Given the description of an element on the screen output the (x, y) to click on. 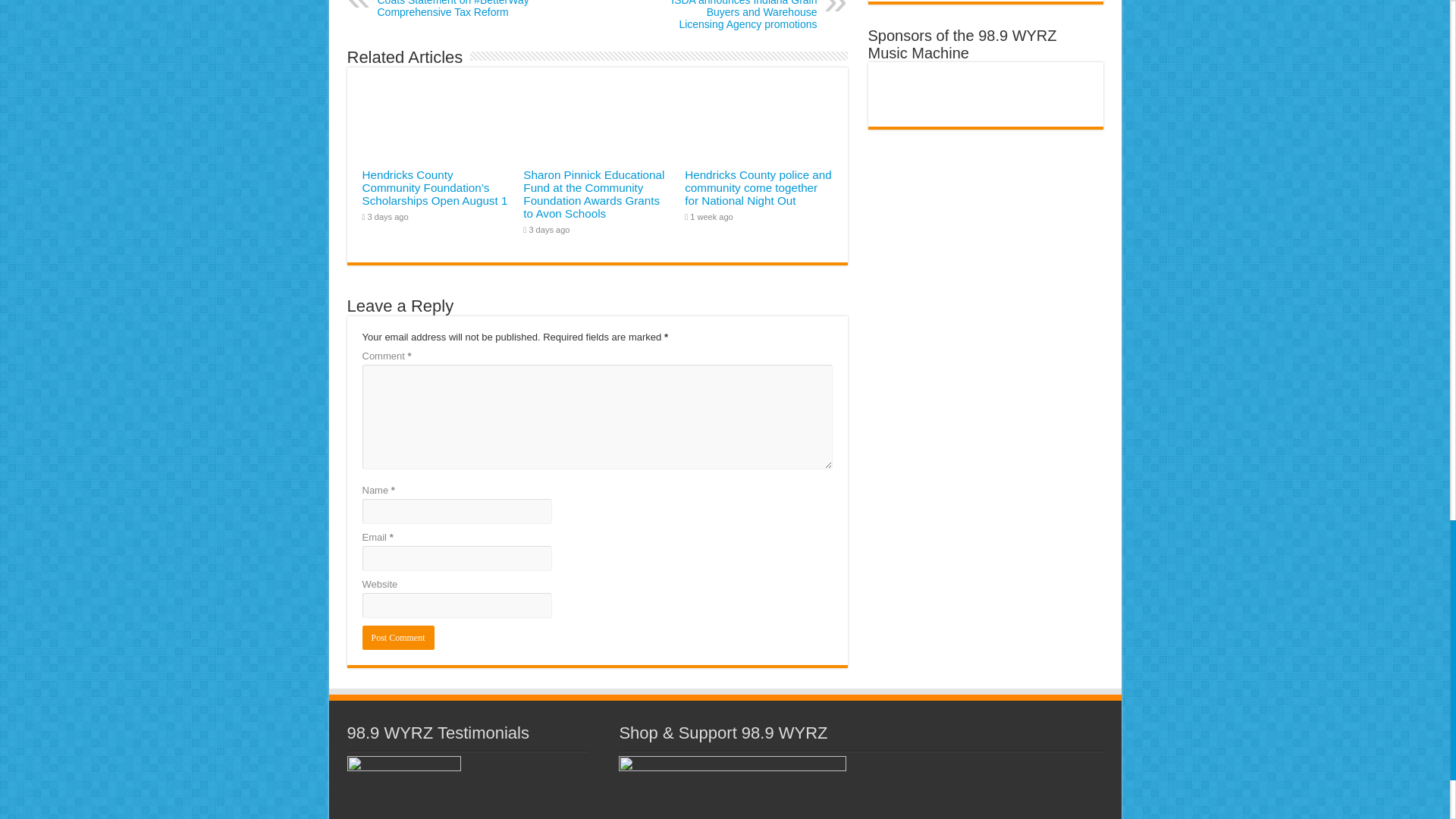
Post Comment (397, 637)
